Given the description of an element on the screen output the (x, y) to click on. 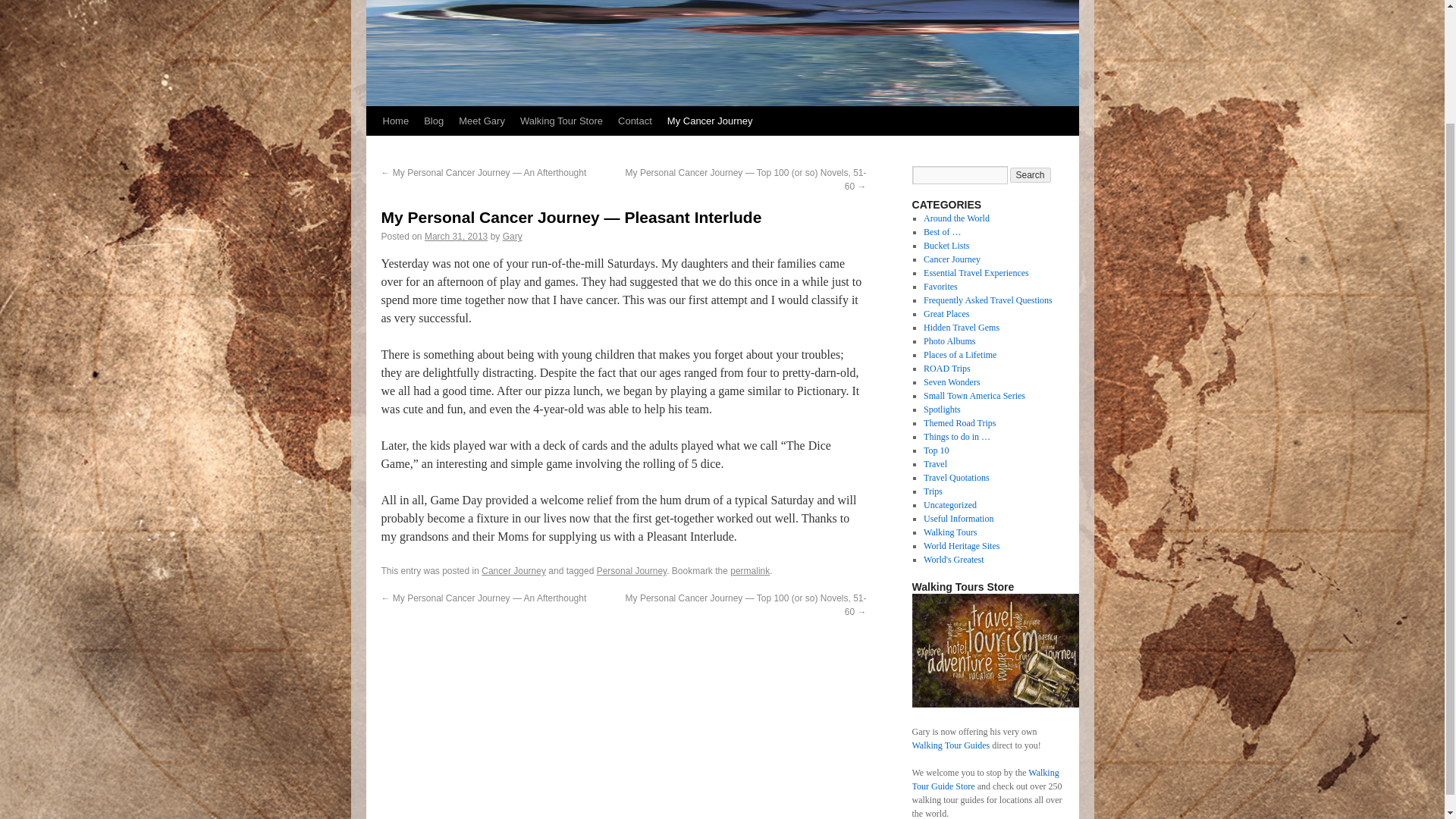
permalink (750, 570)
Themed Road Trips (959, 422)
Hidden Travel Gems (960, 327)
Walking Tour Store (561, 121)
Around the World (956, 217)
Bucket Lists (946, 245)
Cancer Journey (513, 570)
Seven Wonders (951, 381)
Photo Albums (949, 340)
Places of a Lifetime (959, 354)
